Given the description of an element on the screen output the (x, y) to click on. 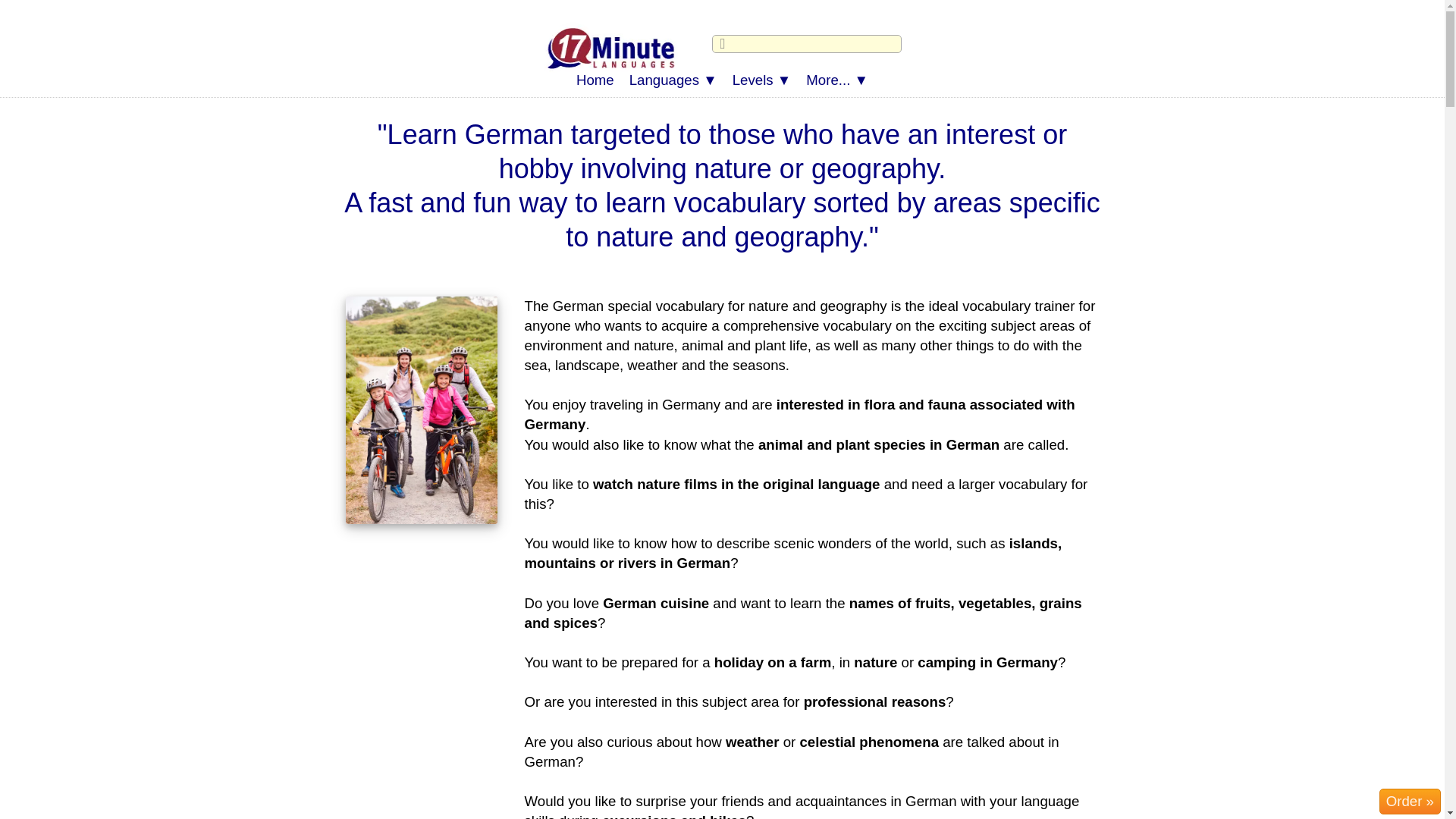
Languages (673, 80)
Home (595, 80)
